Given the description of an element on the screen output the (x, y) to click on. 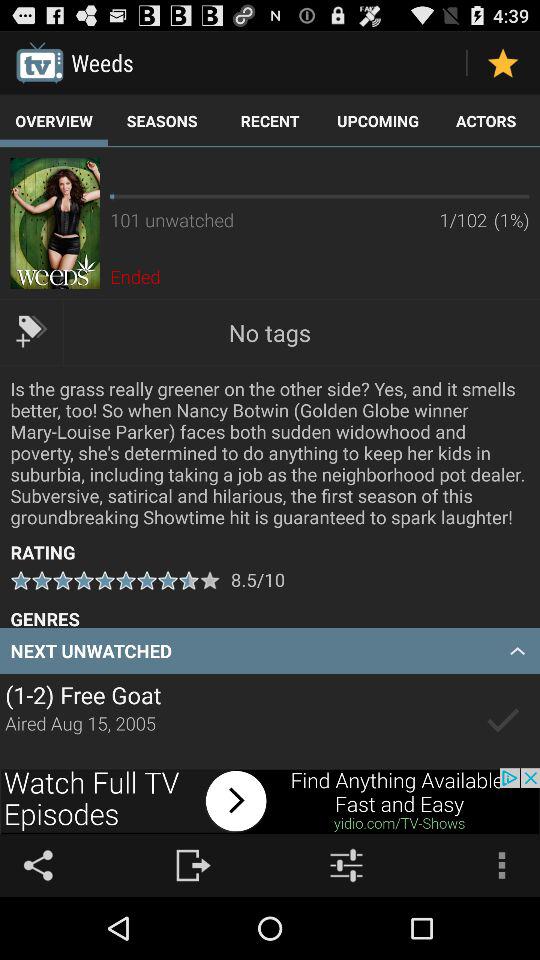
click the thumbnail (54, 223)
